Given the description of an element on the screen output the (x, y) to click on. 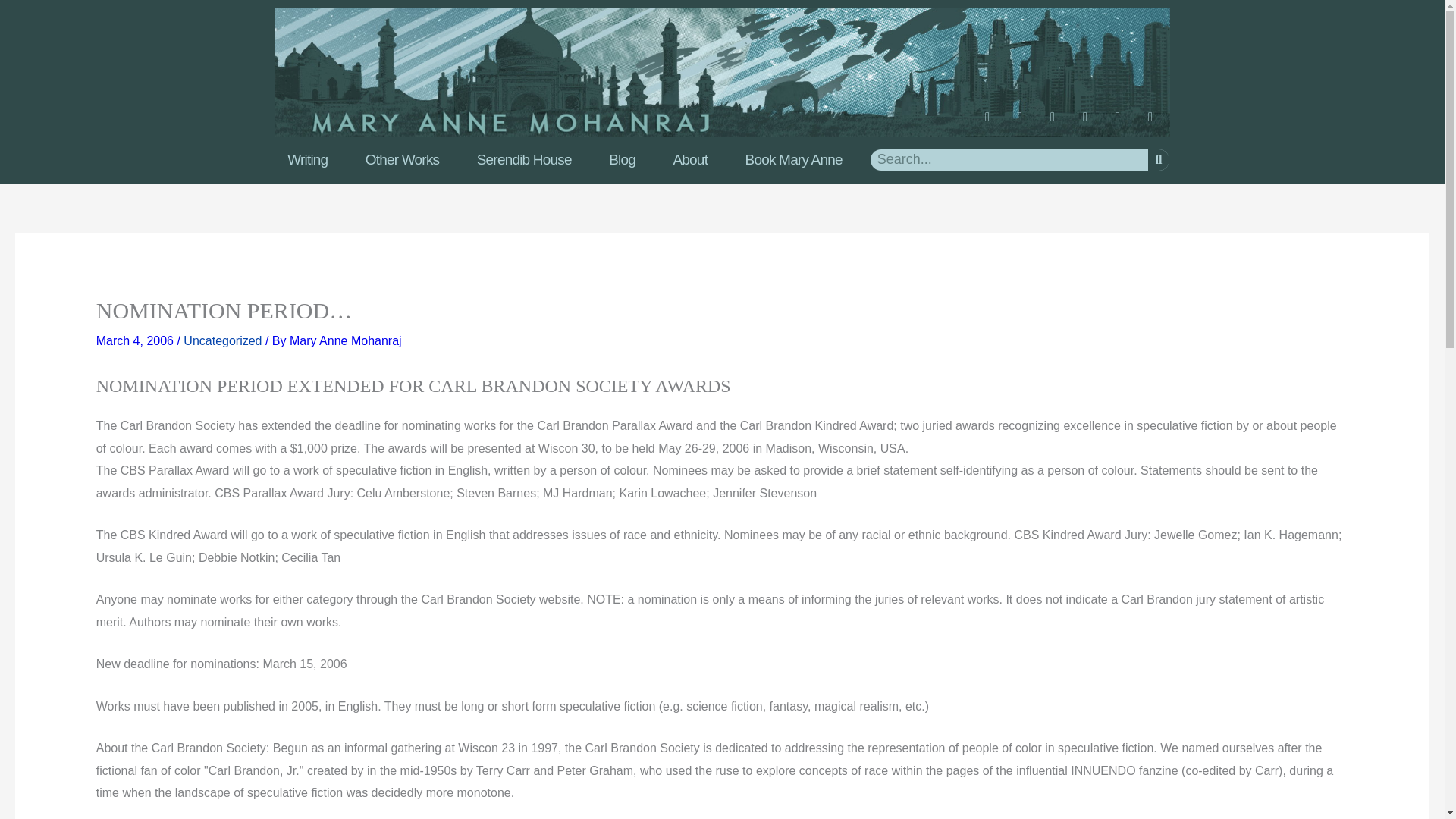
Shopping-bag (1155, 123)
Blog (621, 159)
Other Works (402, 159)
Twitter (1090, 123)
Writing (306, 159)
Facebook (994, 123)
Youtube (1058, 123)
Patreon (1124, 123)
About (689, 159)
View all posts by Mary Anne Mohanraj (345, 340)
